Given the description of an element on the screen output the (x, y) to click on. 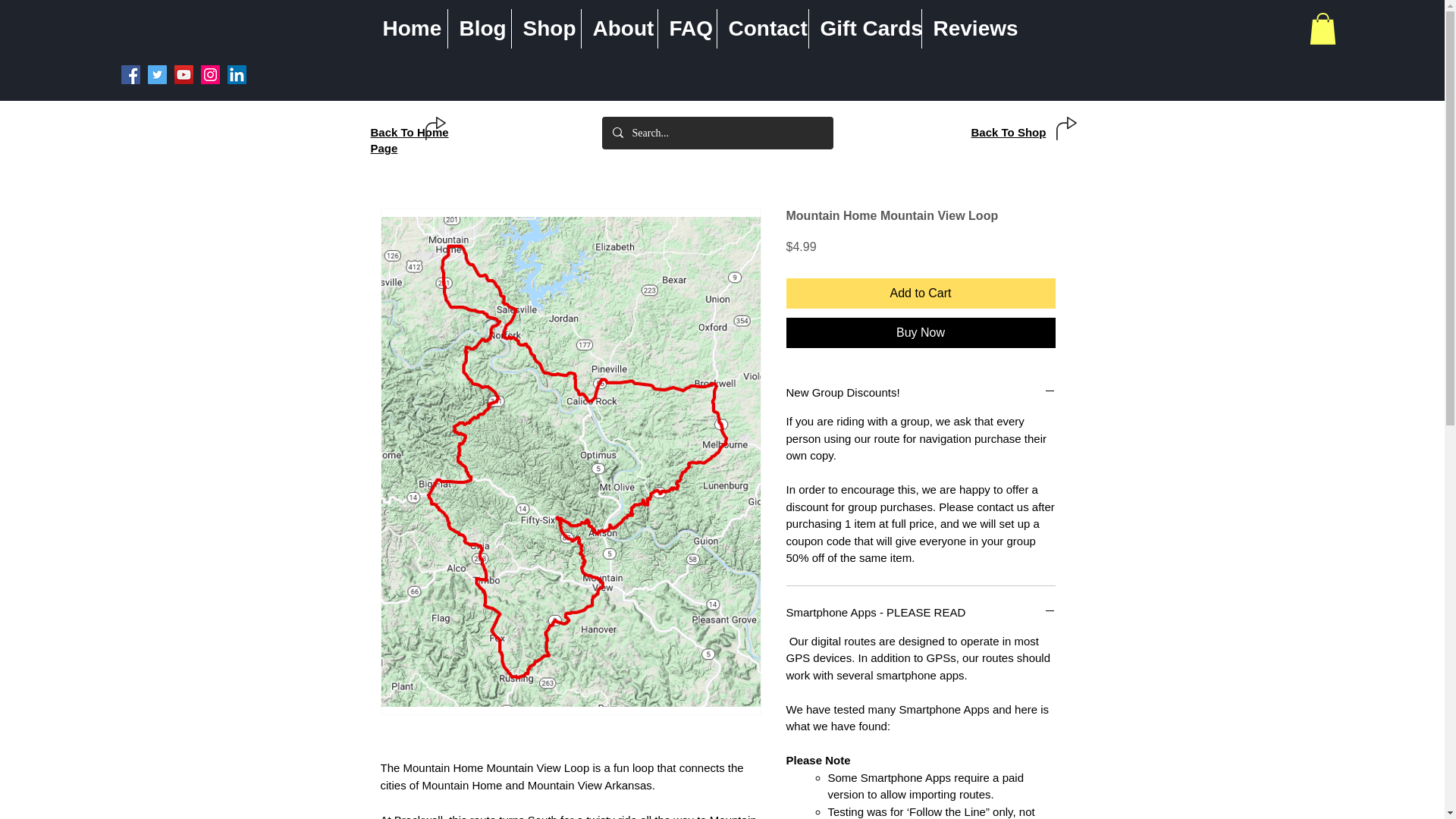
About (618, 28)
New Group Discounts! (920, 392)
Contact (762, 28)
Home (408, 28)
Add to Cart (920, 293)
Reviews (970, 28)
Smartphone Apps - PLEASE READ (920, 611)
Gift Cards (864, 28)
Back To Home Page (408, 140)
Blog (478, 28)
FAQ (687, 28)
Buy Now (920, 332)
Shop (545, 28)
Back To Shop (1008, 132)
